Given the description of an element on the screen output the (x, y) to click on. 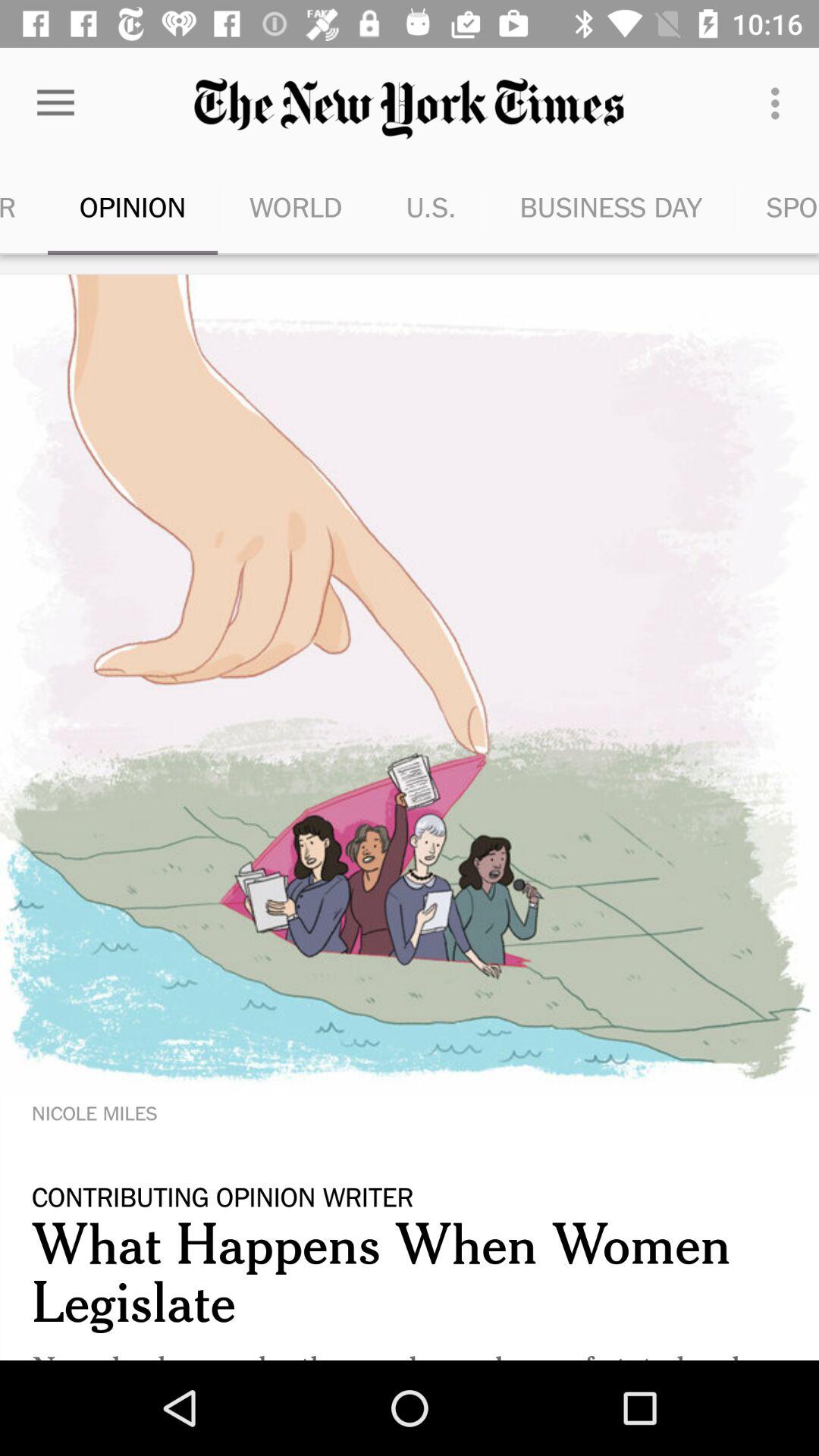
flip to the sports (776, 206)
